Given the description of an element on the screen output the (x, y) to click on. 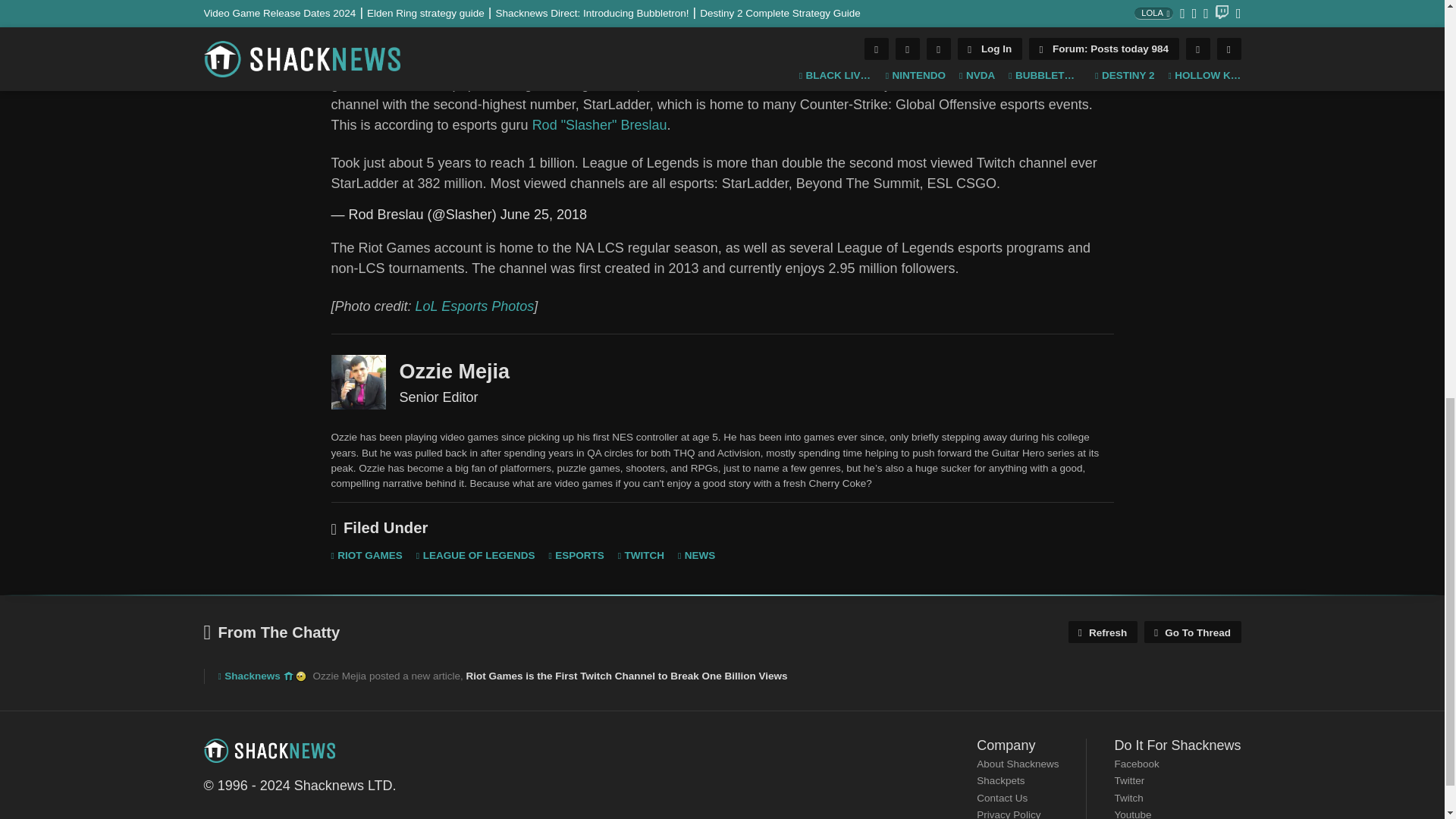
legacy 10 years (288, 675)
Senior Editor (357, 381)
legacy 20 years (300, 675)
